Given the description of an element on the screen output the (x, y) to click on. 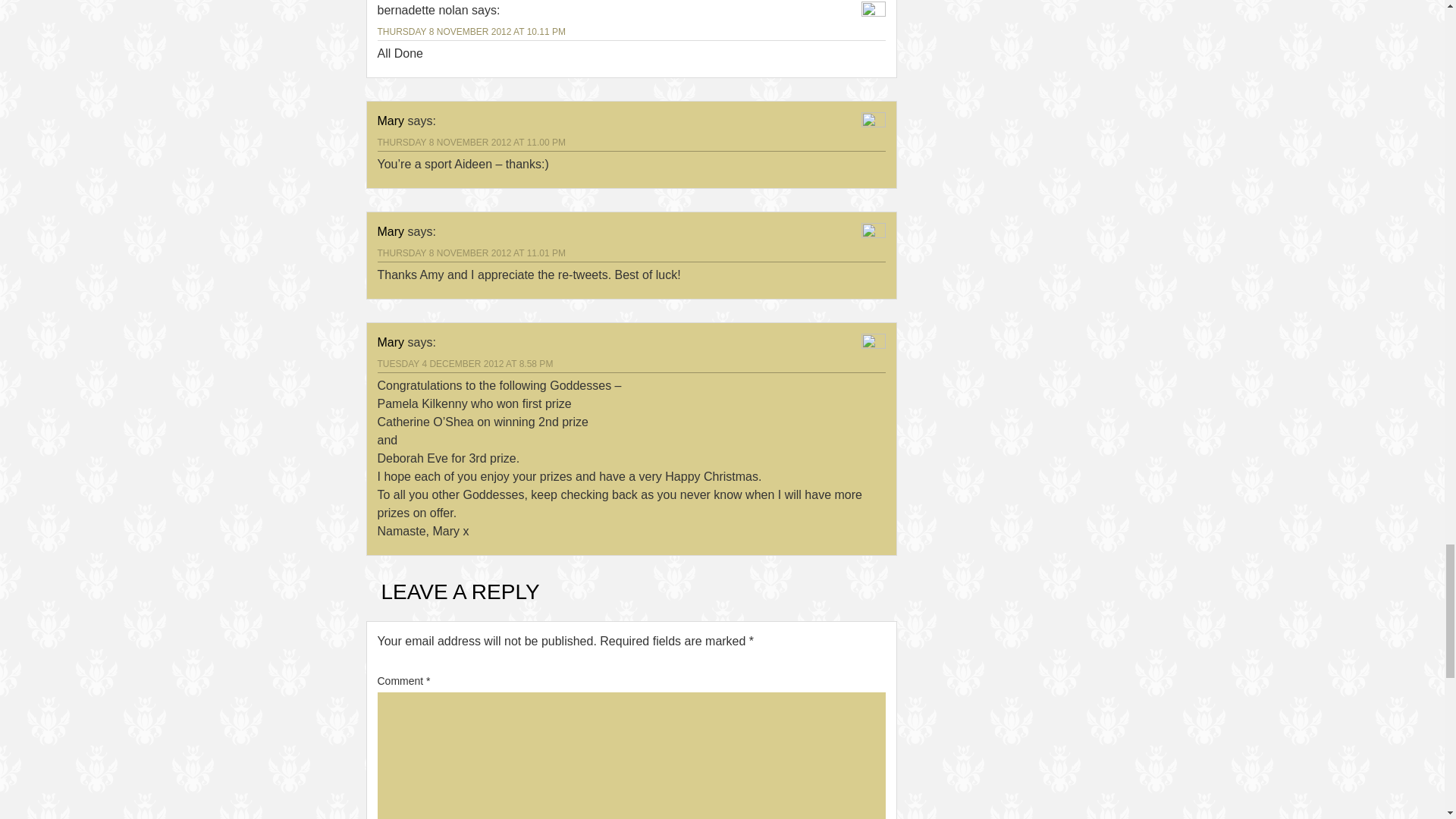
THURSDAY 8 NOVEMBER 2012 AT 11.00 PM (471, 142)
Mary (390, 120)
Mary (390, 341)
THURSDAY 8 NOVEMBER 2012 AT 11.01 PM (471, 253)
Mary (390, 231)
THURSDAY 8 NOVEMBER 2012 AT 10.11 PM (471, 31)
